Given the description of an element on the screen output the (x, y) to click on. 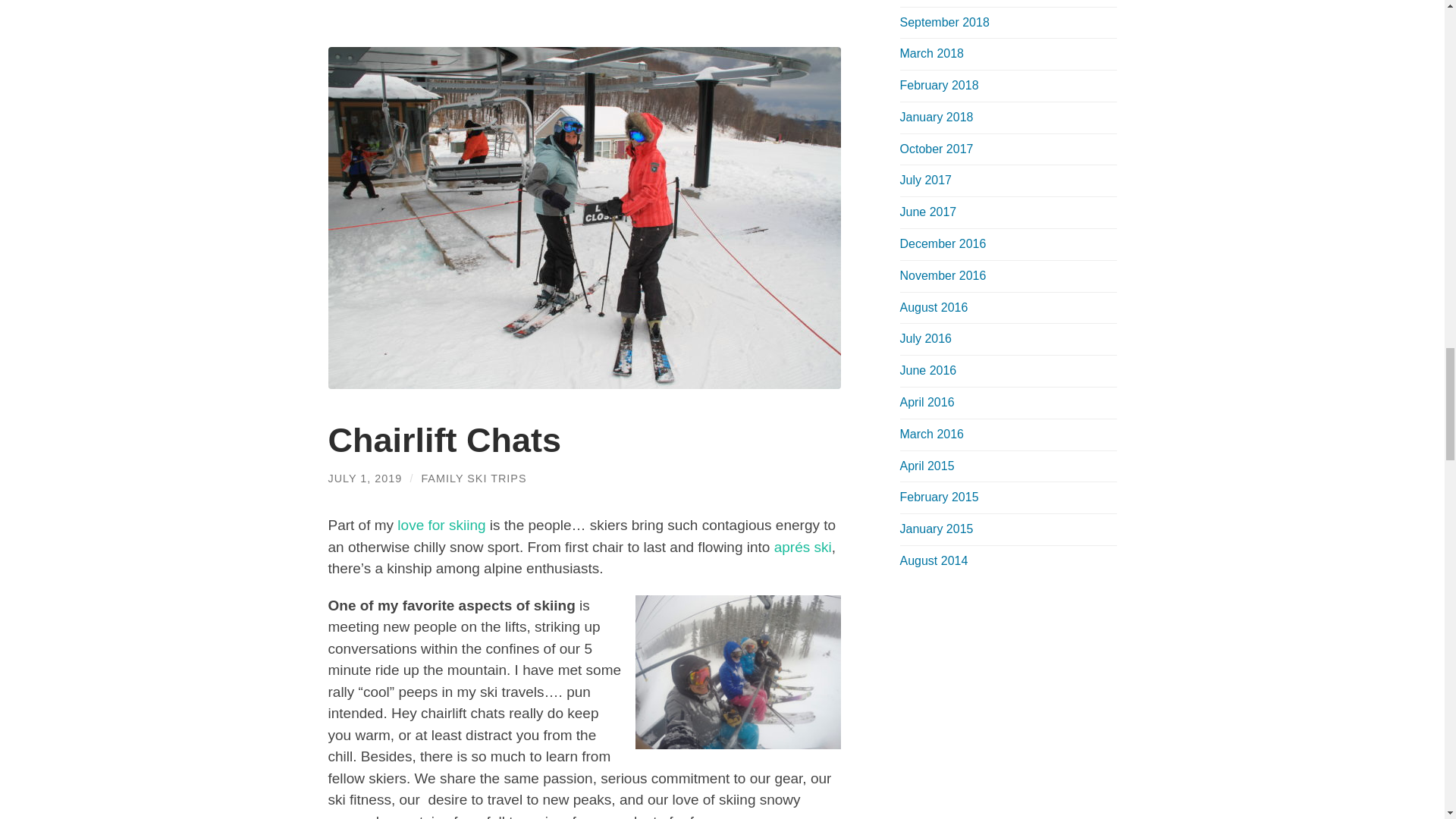
FAMILY SKI TRIPS (472, 478)
love for skiing (440, 524)
JULY 1, 2019 (364, 478)
Posts by Family Ski Trips (472, 478)
Chairlift Chats (443, 439)
